Given the description of an element on the screen output the (x, y) to click on. 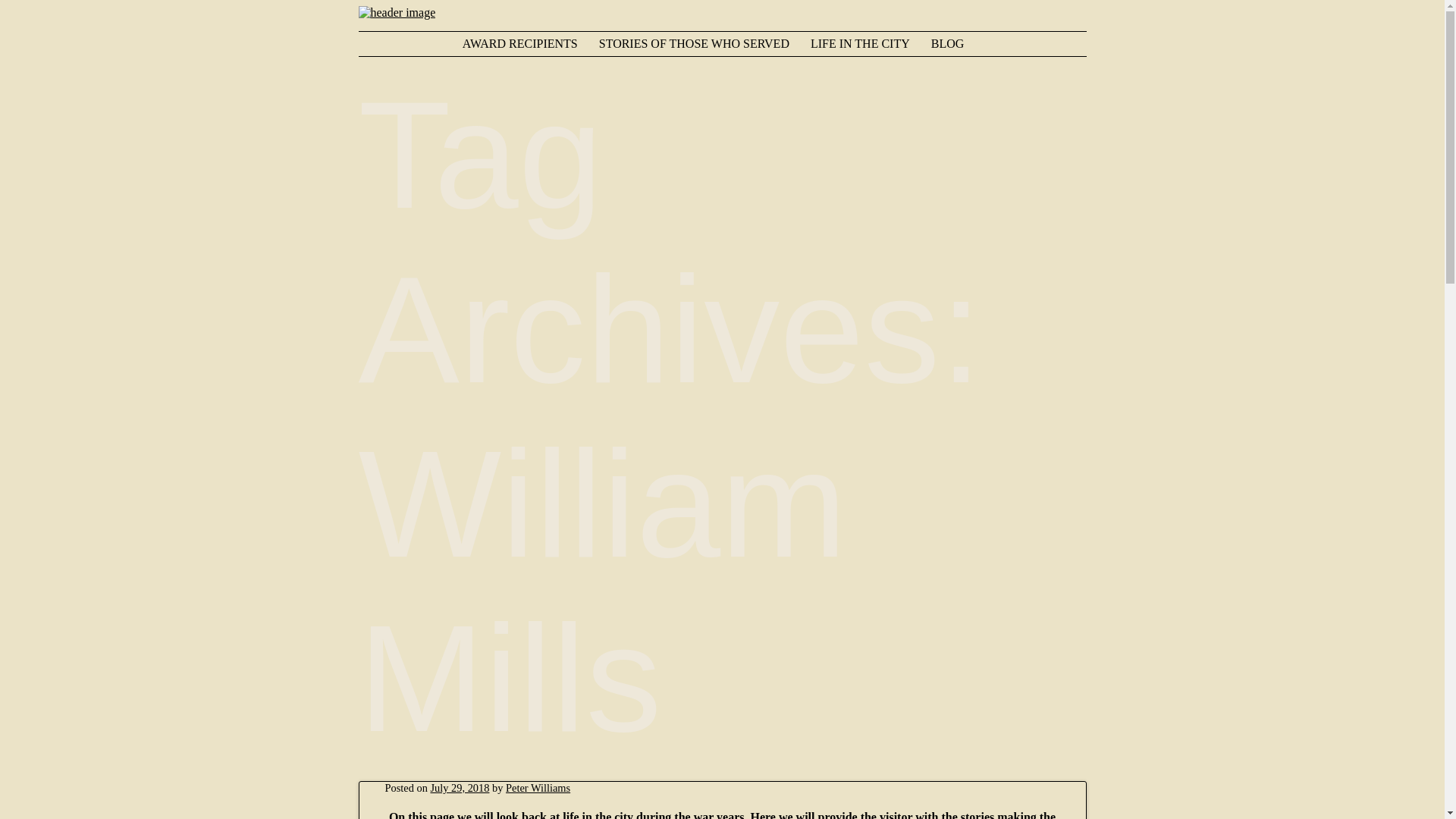
LIFE IN THE CITY (869, 43)
4:52 pm (459, 787)
STORIES OF THOSE WHO SERVED (703, 43)
AWARD RECIPIENTS (529, 43)
Skip to content (403, 43)
View all posts by Peter Williams (537, 787)
Peter Williams (537, 787)
July 29, 2018 (459, 787)
Skip to content (403, 43)
BLOG (956, 43)
